Given the description of an element on the screen output the (x, y) to click on. 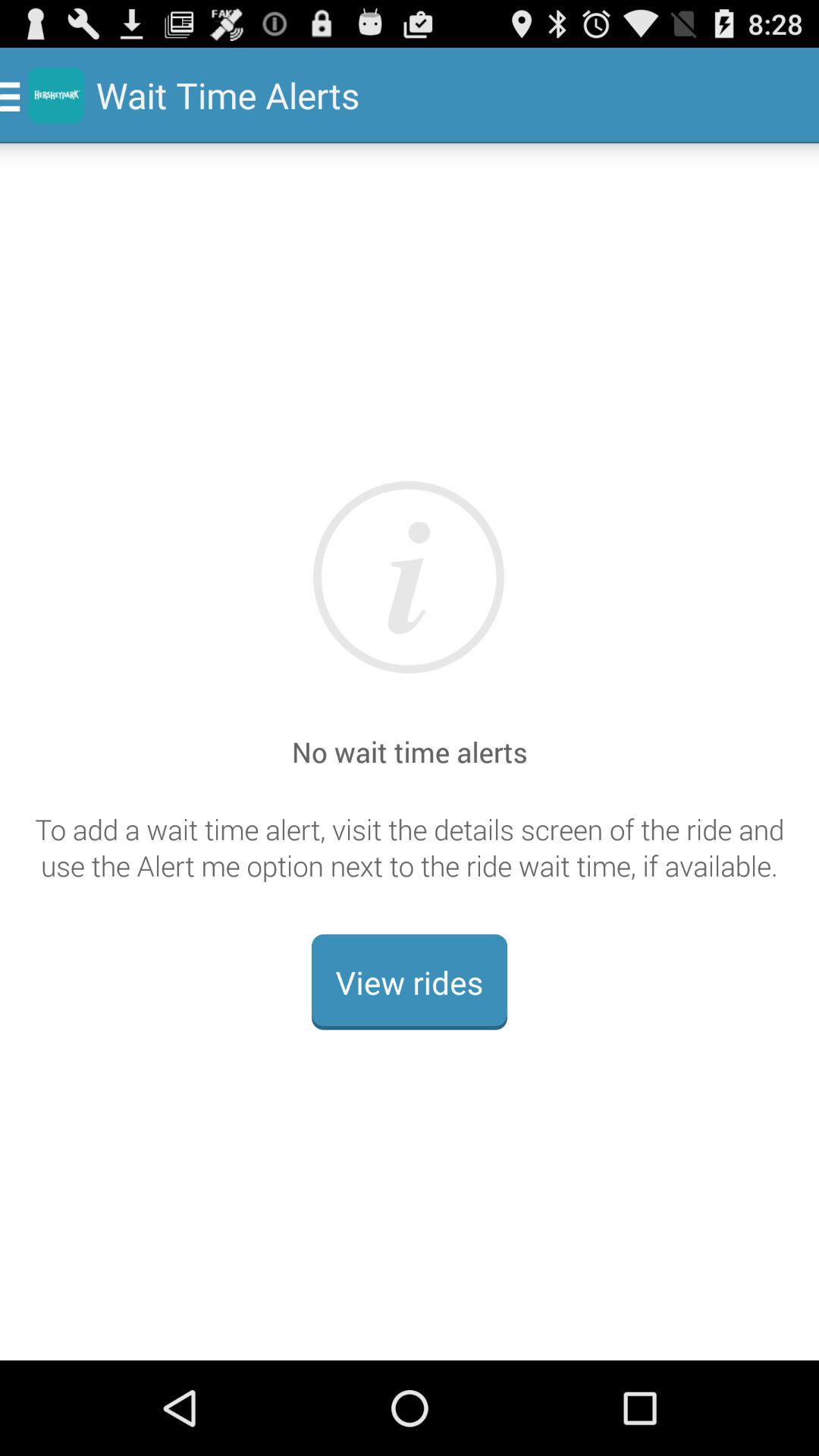
jump to view rides item (409, 982)
